Given the description of an element on the screen output the (x, y) to click on. 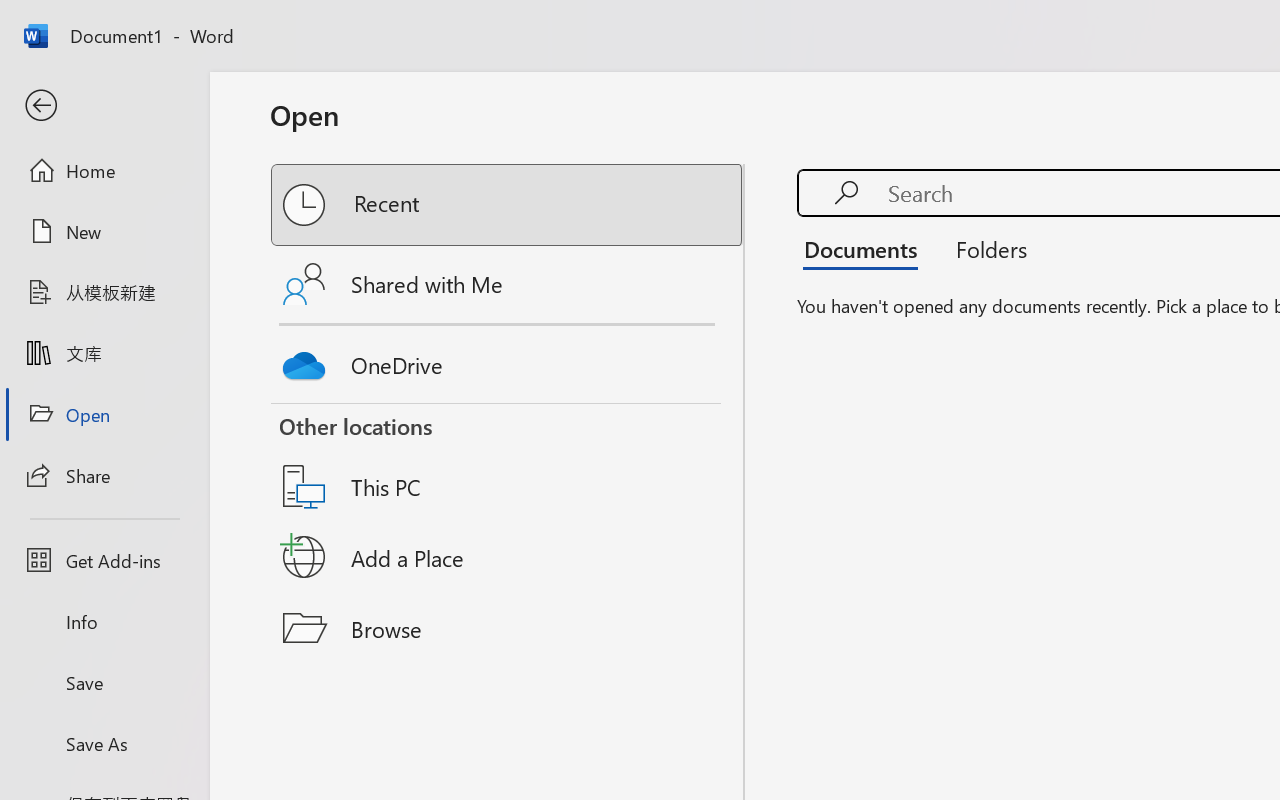
Info (104, 621)
Recent (507, 205)
Shared with Me (507, 283)
Save As (104, 743)
Get Add-ins (104, 560)
Add a Place (507, 557)
Browse (507, 627)
Back (104, 106)
New (104, 231)
